Given the description of an element on the screen output the (x, y) to click on. 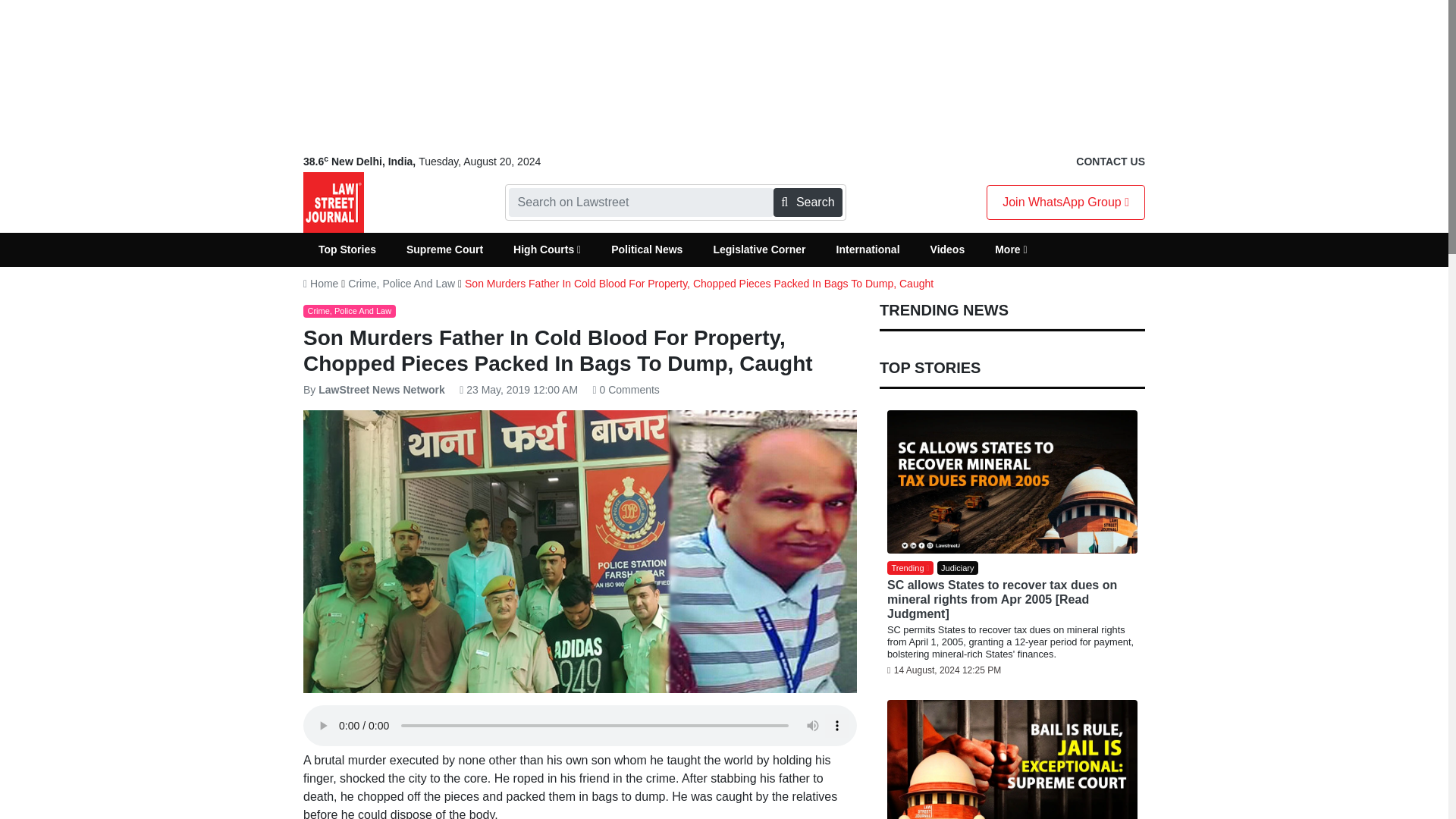
CONTACT US (1109, 161)
High Courts (546, 249)
Search (807, 202)
Supreme Court (444, 249)
Top Stories (346, 249)
Legislative Corner (759, 249)
International (868, 249)
Videos (947, 249)
Join WhatsApp Group (1065, 202)
